Given the description of an element on the screen output the (x, y) to click on. 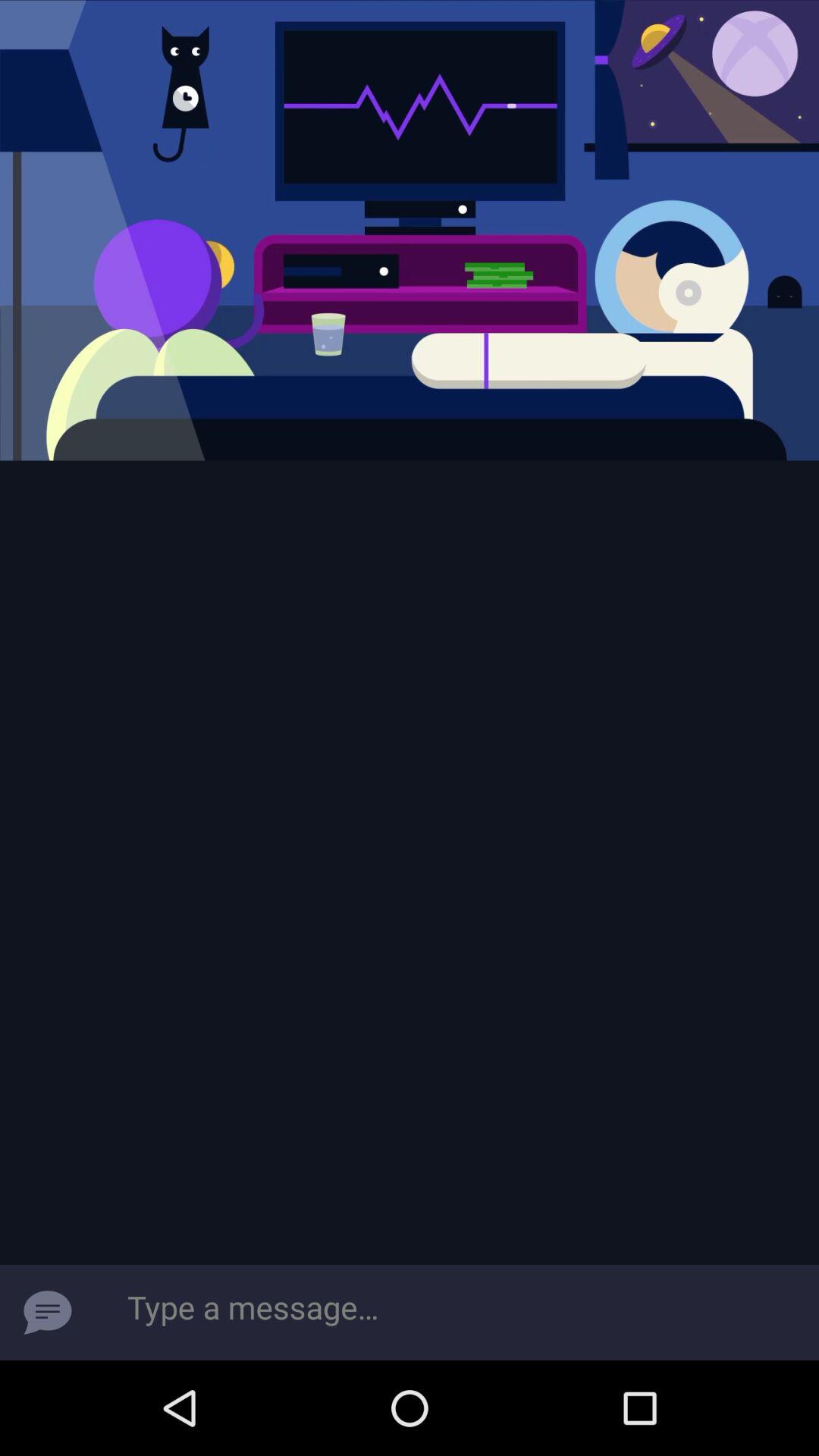
view messages (47, 1312)
